Given the description of an element on the screen output the (x, y) to click on. 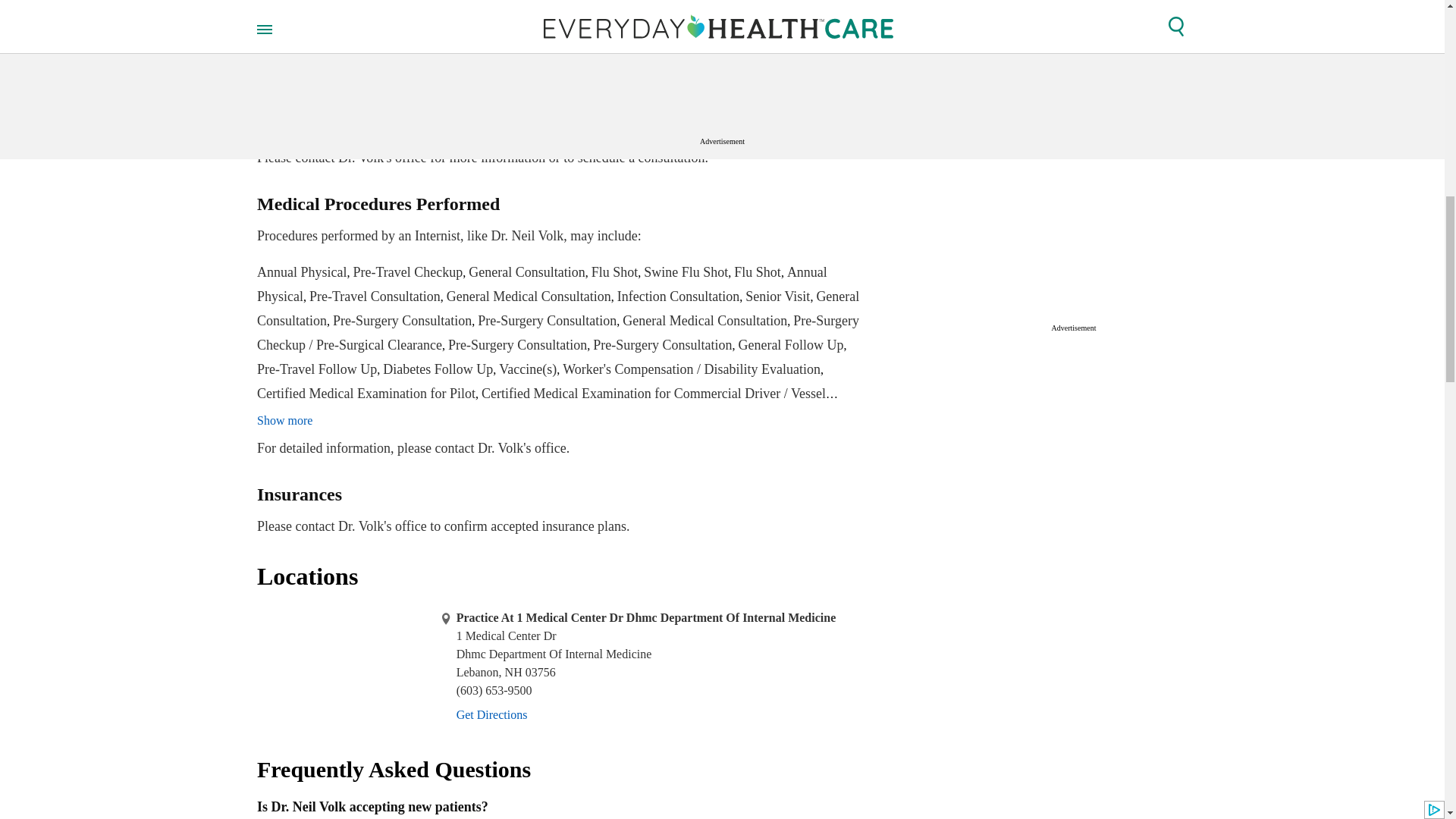
Senior Visit (777, 296)
Sleep Apnea (789, 133)
Pre-Surgery Consultation (517, 344)
Sepsis (714, 133)
Flu Shot (615, 272)
Deep Vein Thrombosis (483, 133)
General Medical Consultation (528, 296)
Pre-Travel Consultation (374, 296)
General Consultation (526, 272)
Pre-Travel Follow Up (317, 368)
Pre-Surgery Consultation (662, 344)
Pneumonia (659, 133)
General Follow Up (790, 344)
